Given the description of an element on the screen output the (x, y) to click on. 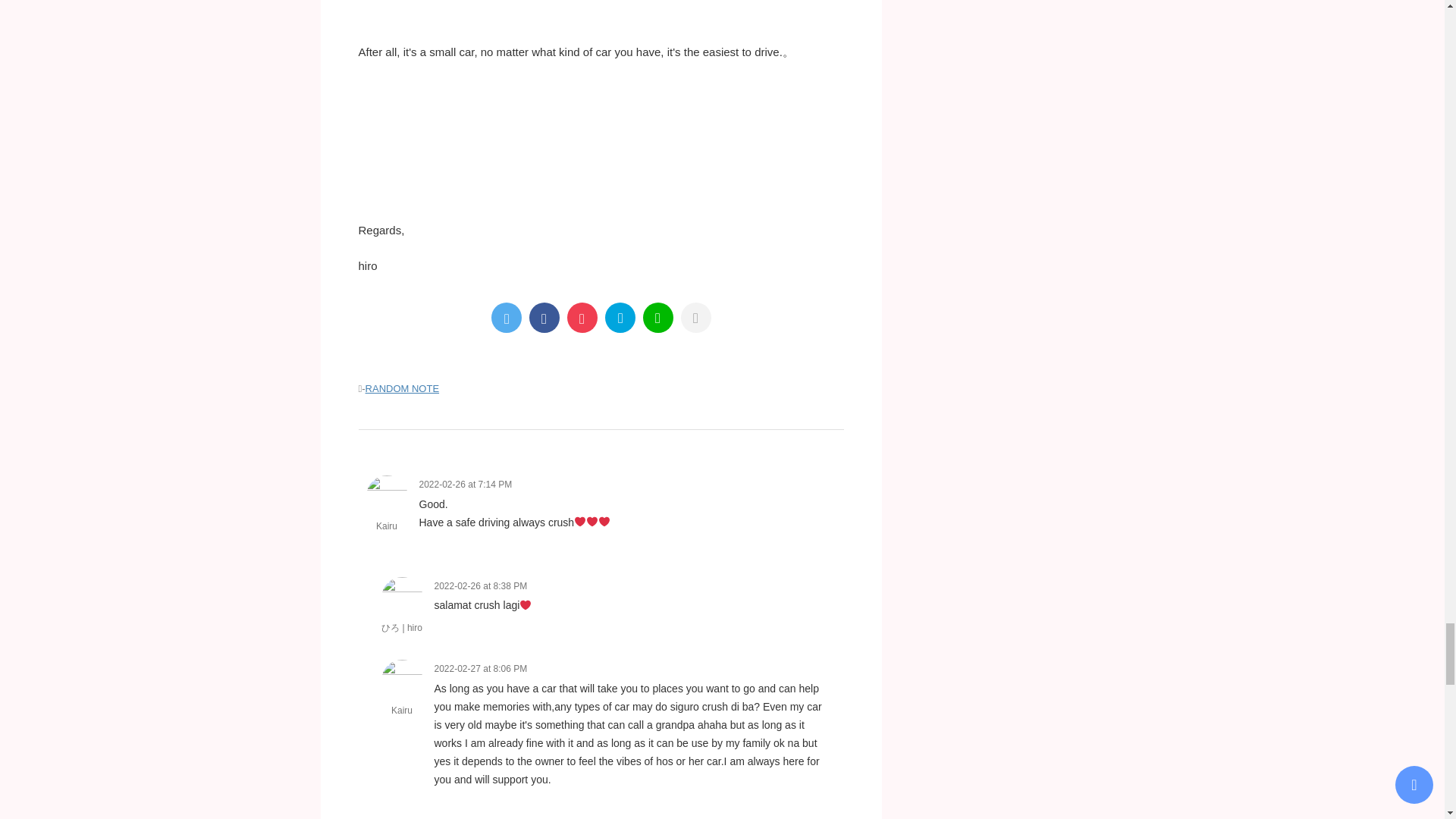
2022-02-26 at 8:38 PM (480, 585)
2022-02-26 at 7:14 PM (465, 484)
2022-02-27 at 8:06 PM (480, 668)
RANDOM NOTE (402, 388)
